Given the description of an element on the screen output the (x, y) to click on. 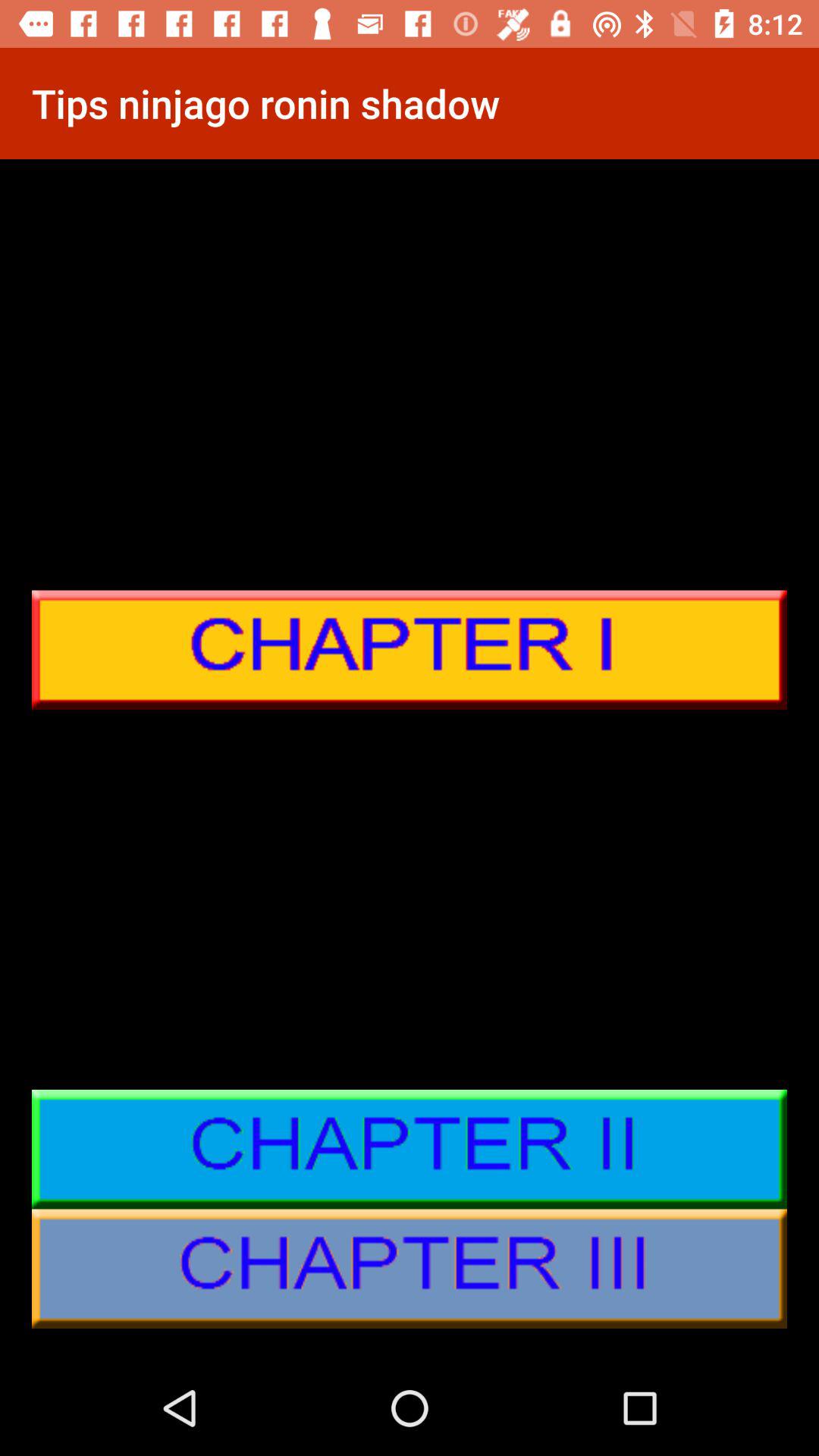
to open chapter (409, 649)
